Given the description of an element on the screen output the (x, y) to click on. 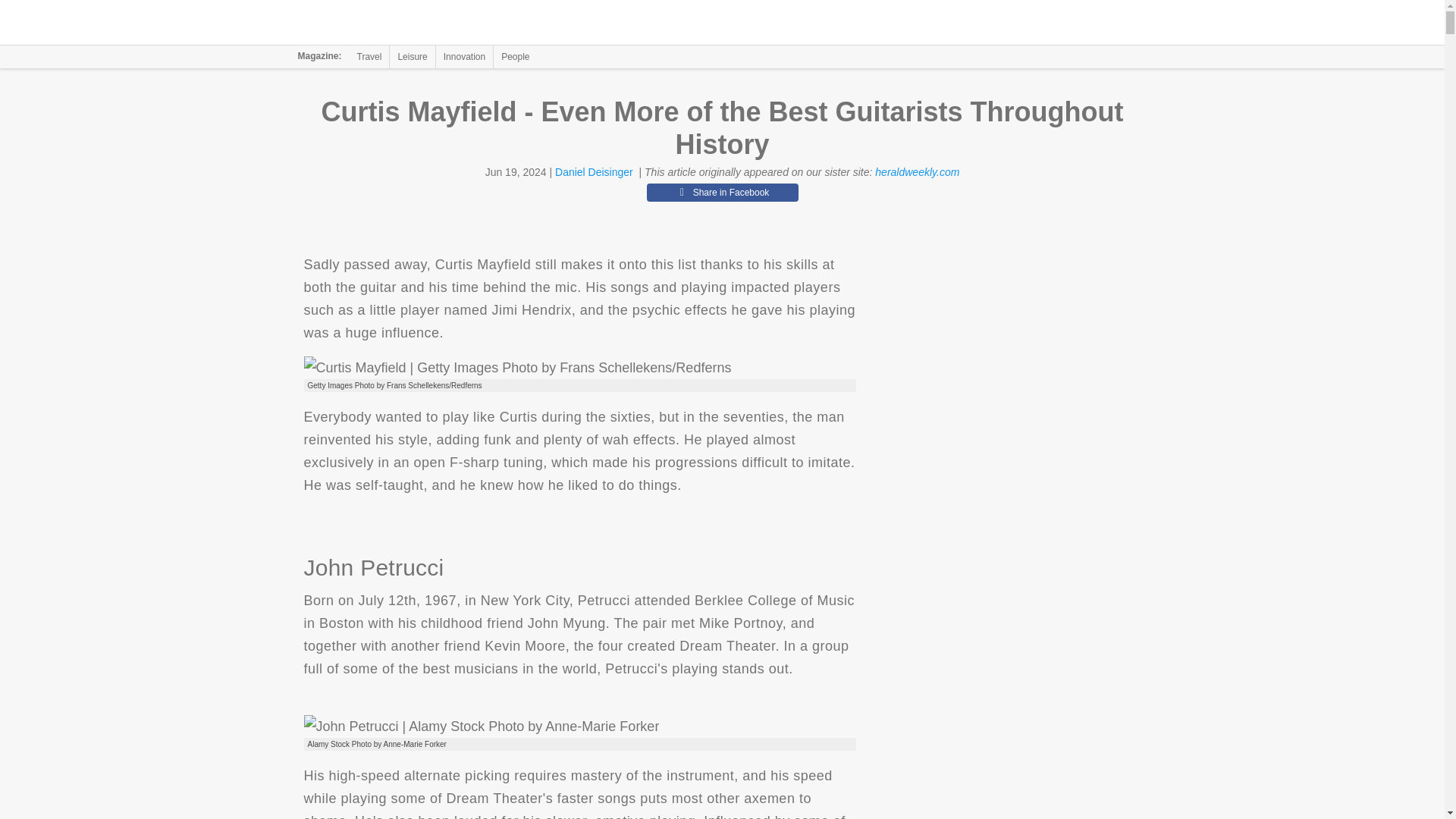
Innovation (464, 56)
Share in Facebook (721, 192)
The Jerusalem Post Magazine (391, 22)
Daniel Deisinger (593, 172)
Curtis Mayfield (516, 367)
Travel (369, 56)
heraldweekly.com (917, 172)
People (515, 56)
Leisure (411, 56)
John Petrucci (480, 725)
